Given the description of an element on the screen output the (x, y) to click on. 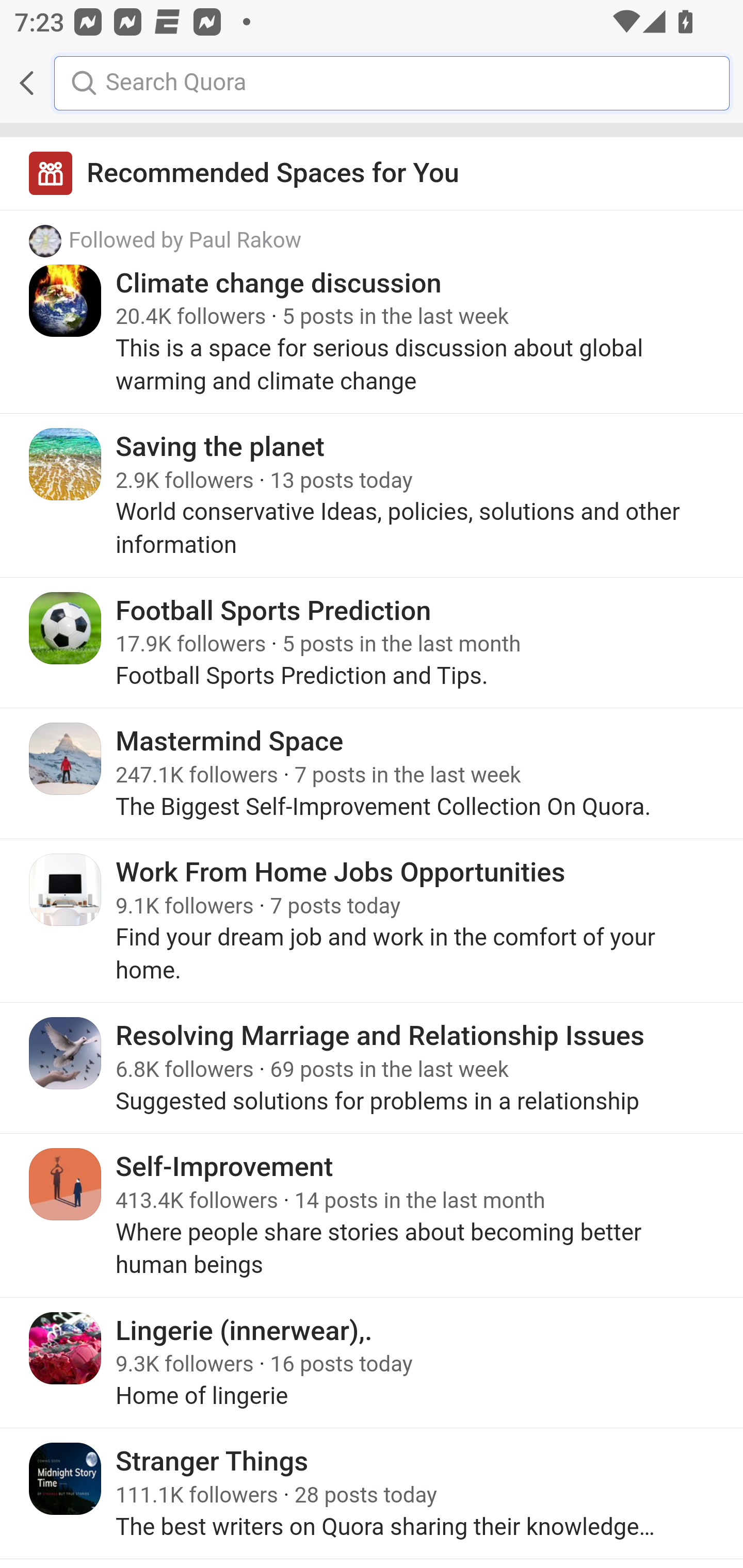
Me Home Search Add (371, 82)
Icon for Climate change discussion (65, 300)
Icon for Saving the planet (65, 464)
Icon for Football Sports Prediction (65, 627)
Icon for Mastermind Space (65, 759)
Icon for Work From Home Jobs Opportunities (65, 889)
Icon for Self-Improvement (65, 1184)
Icon for Lingerie (innerwear),. (65, 1347)
Icon for Stranger Things (65, 1479)
